Given the description of an element on the screen output the (x, y) to click on. 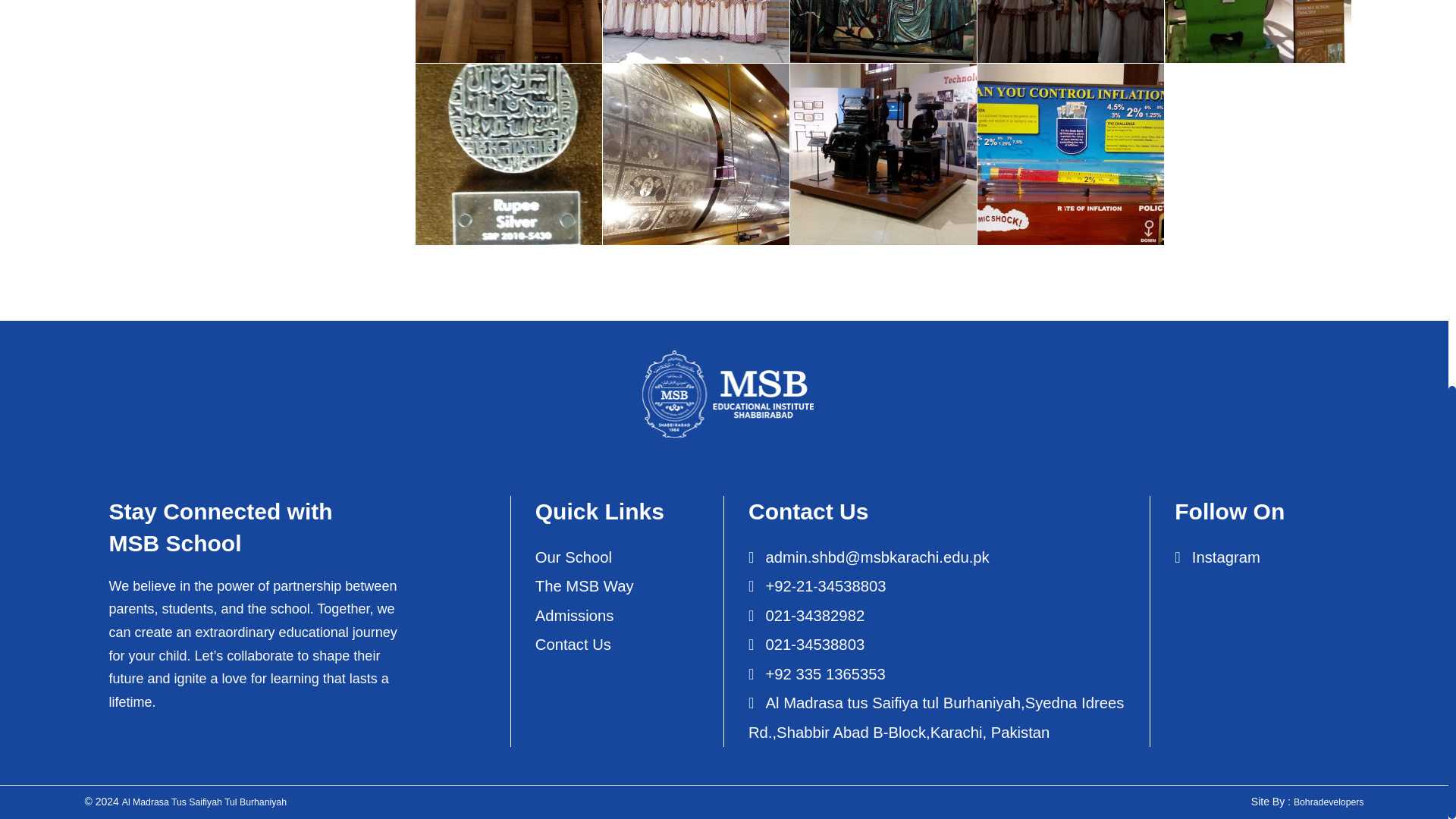
exploring-the-unexplored-04 (1069, 31)
exploring-the-unexplored-08 (883, 153)
exploring-the-unexplored-01 (508, 31)
exploring-the-unexplored-05 (1257, 31)
exploring-the-unexplored-09 (1069, 153)
exploring-the-unexplored-06 (508, 153)
exploring-the-unexplored-03 (883, 31)
exploring-the-unexplored-02 (695, 31)
exploring-the-unexplored-07 (695, 153)
